Given the description of an element on the screen output the (x, y) to click on. 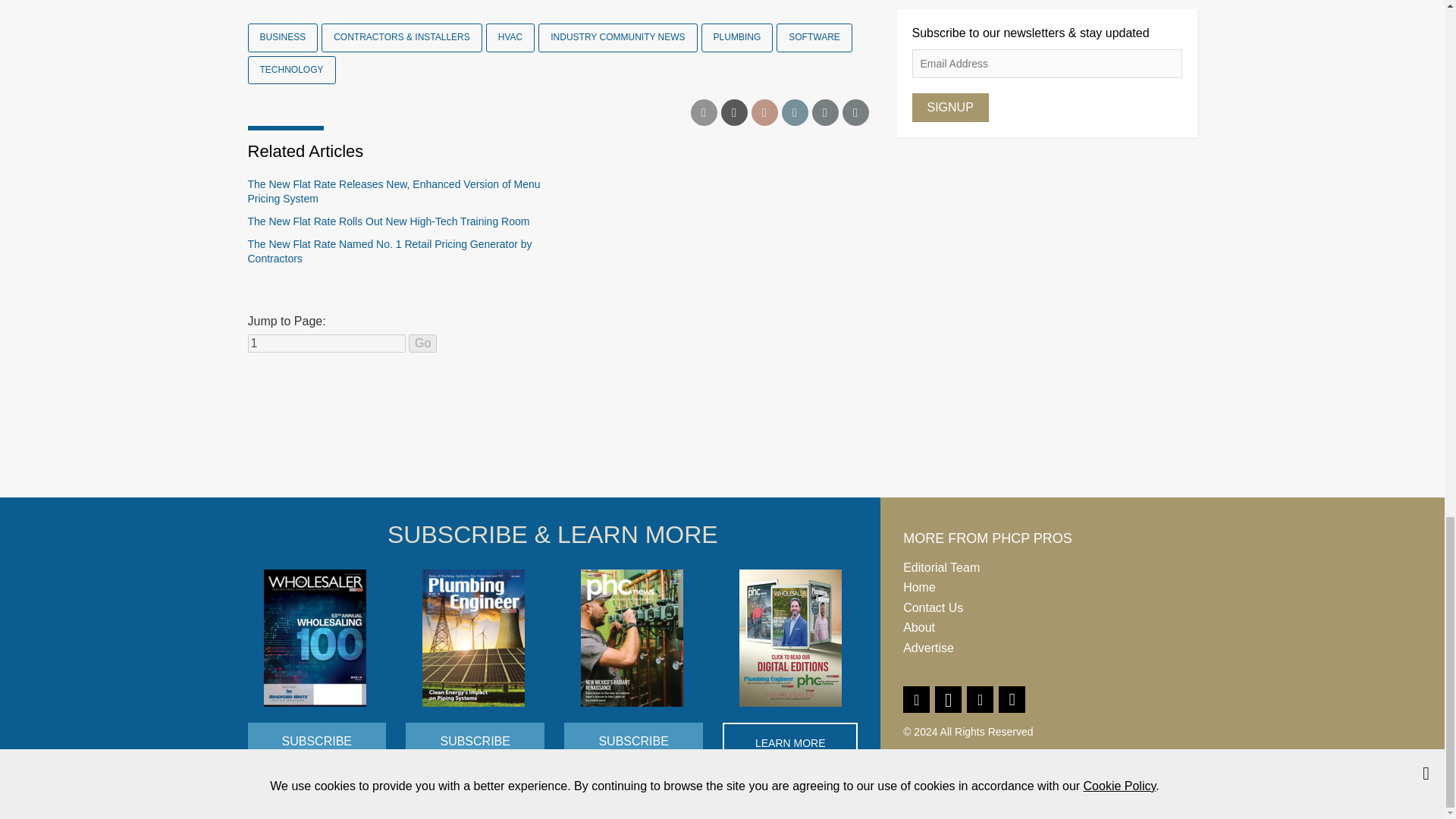
Go (422, 343)
SIGNUP (949, 107)
3rd party ad content (721, 440)
1 (325, 343)
